Given the description of an element on the screen output the (x, y) to click on. 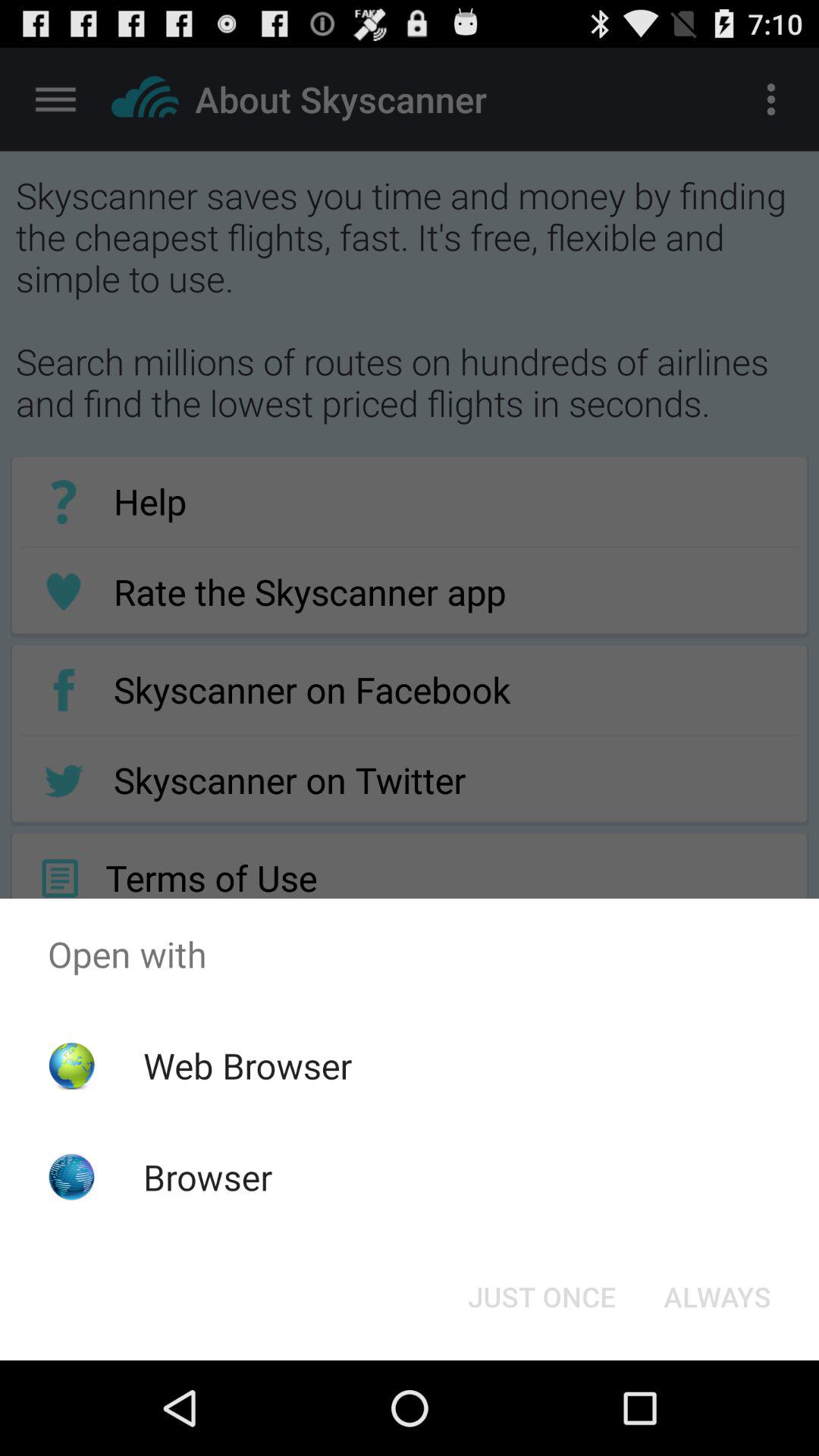
choose the button to the left of always button (541, 1296)
